Given the description of an element on the screen output the (x, y) to click on. 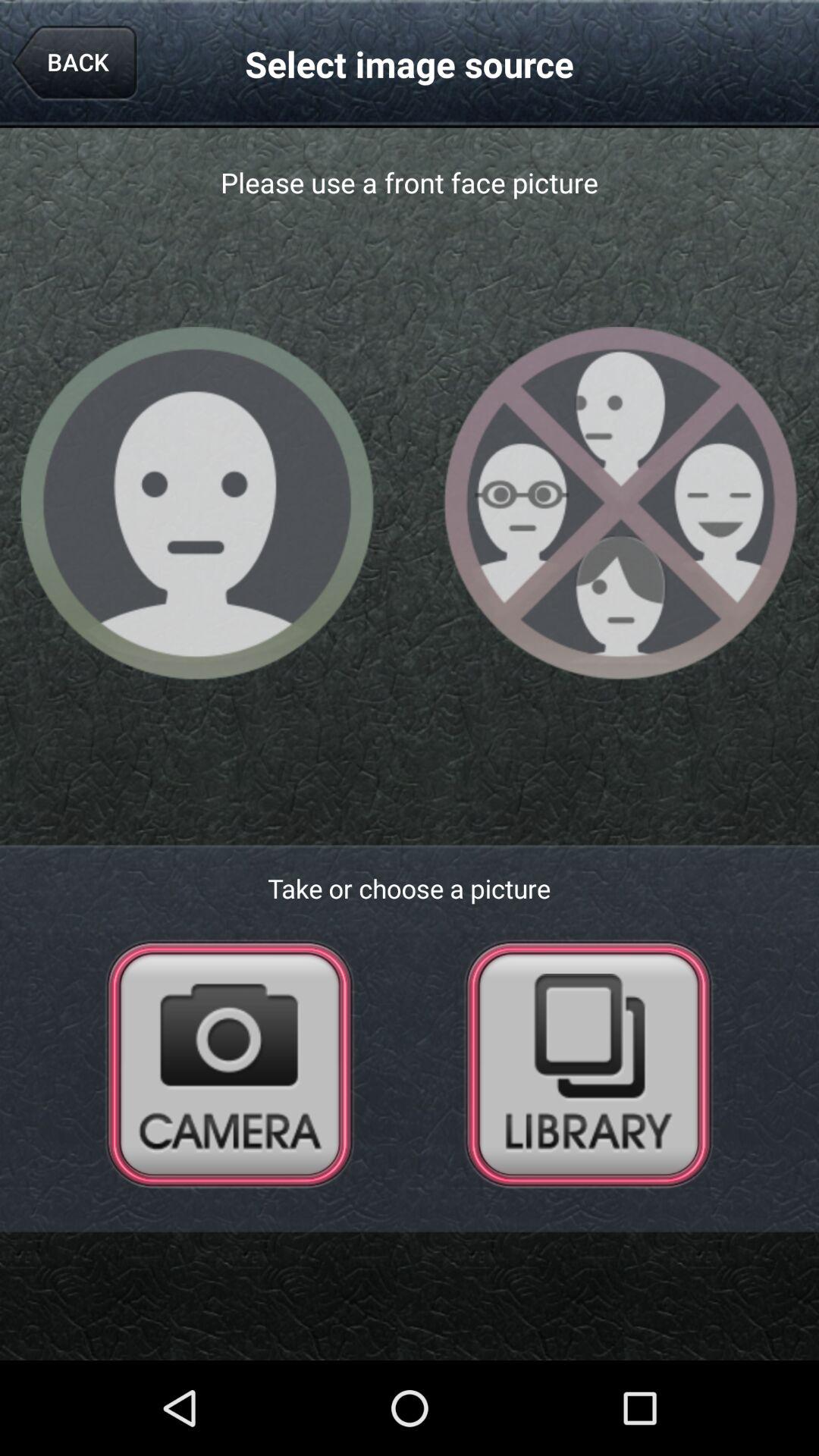
choose camera toggle (229, 1063)
